Given the description of an element on the screen output the (x, y) to click on. 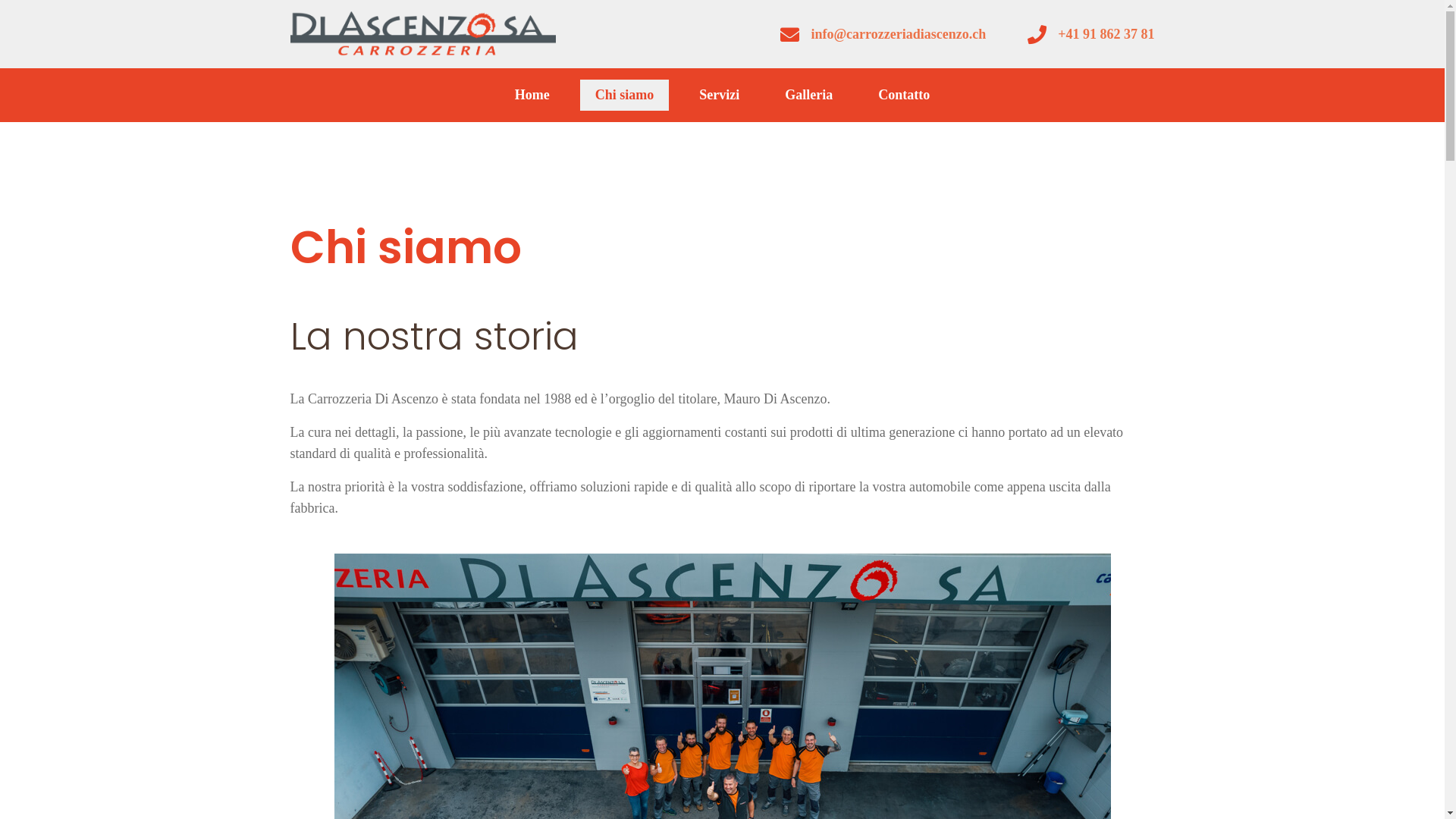
+41 91 862 37 81 Element type: text (1105, 33)
Contatto Element type: text (903, 94)
Chi siamo Element type: text (624, 94)
Servizi Element type: text (719, 94)
Home Element type: text (531, 94)
Galleria Element type: text (808, 94)
info@carrozzeriadiascenzo.ch Element type: text (897, 33)
